Given the description of an element on the screen output the (x, y) to click on. 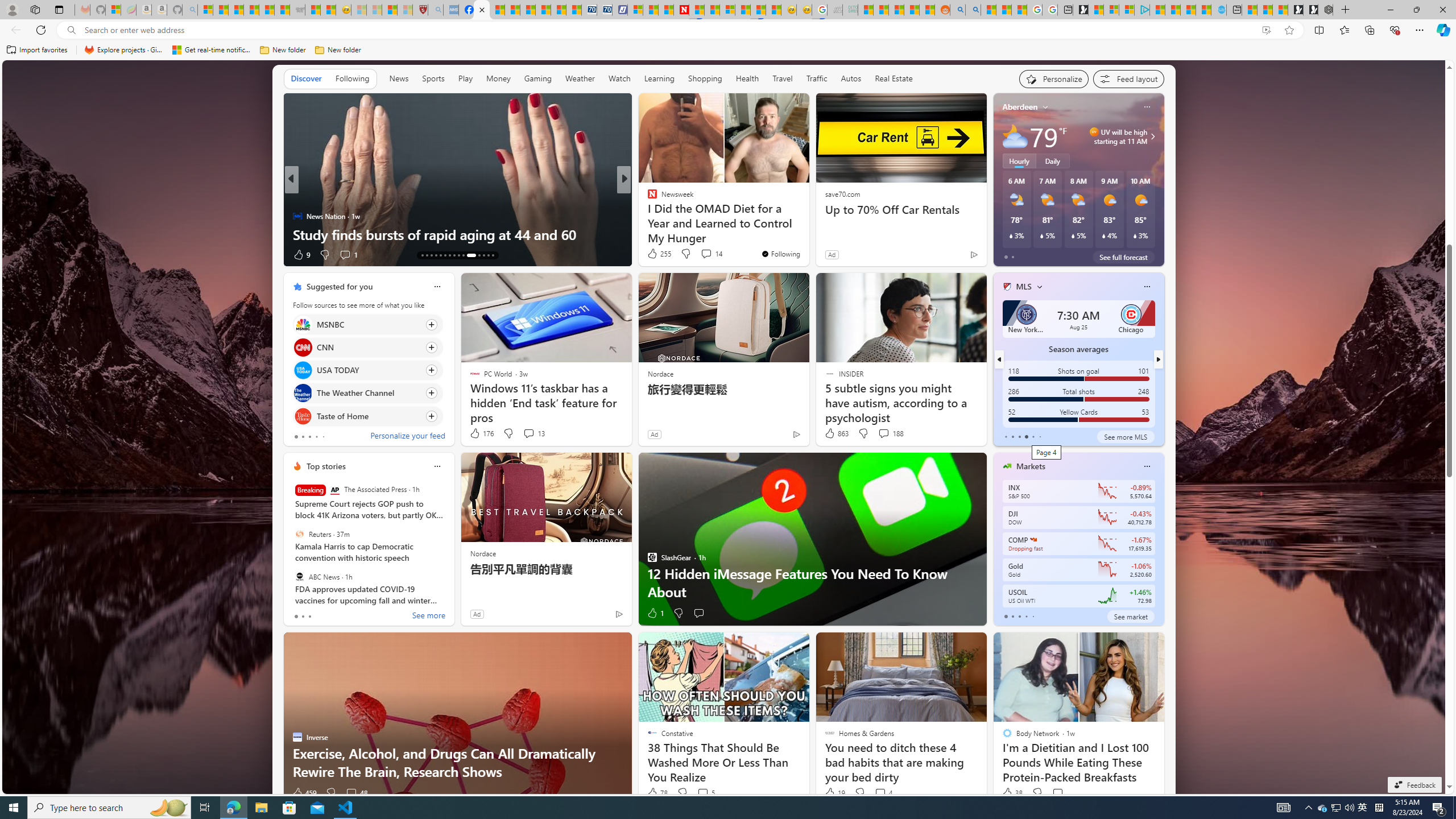
317 Like (304, 254)
My location (1045, 106)
AutomationID: tab-66 (422, 255)
UV will be high starting at 11 AM (1150, 136)
863 Like (835, 433)
Markets (1030, 466)
